Given the description of an element on the screen output the (x, y) to click on. 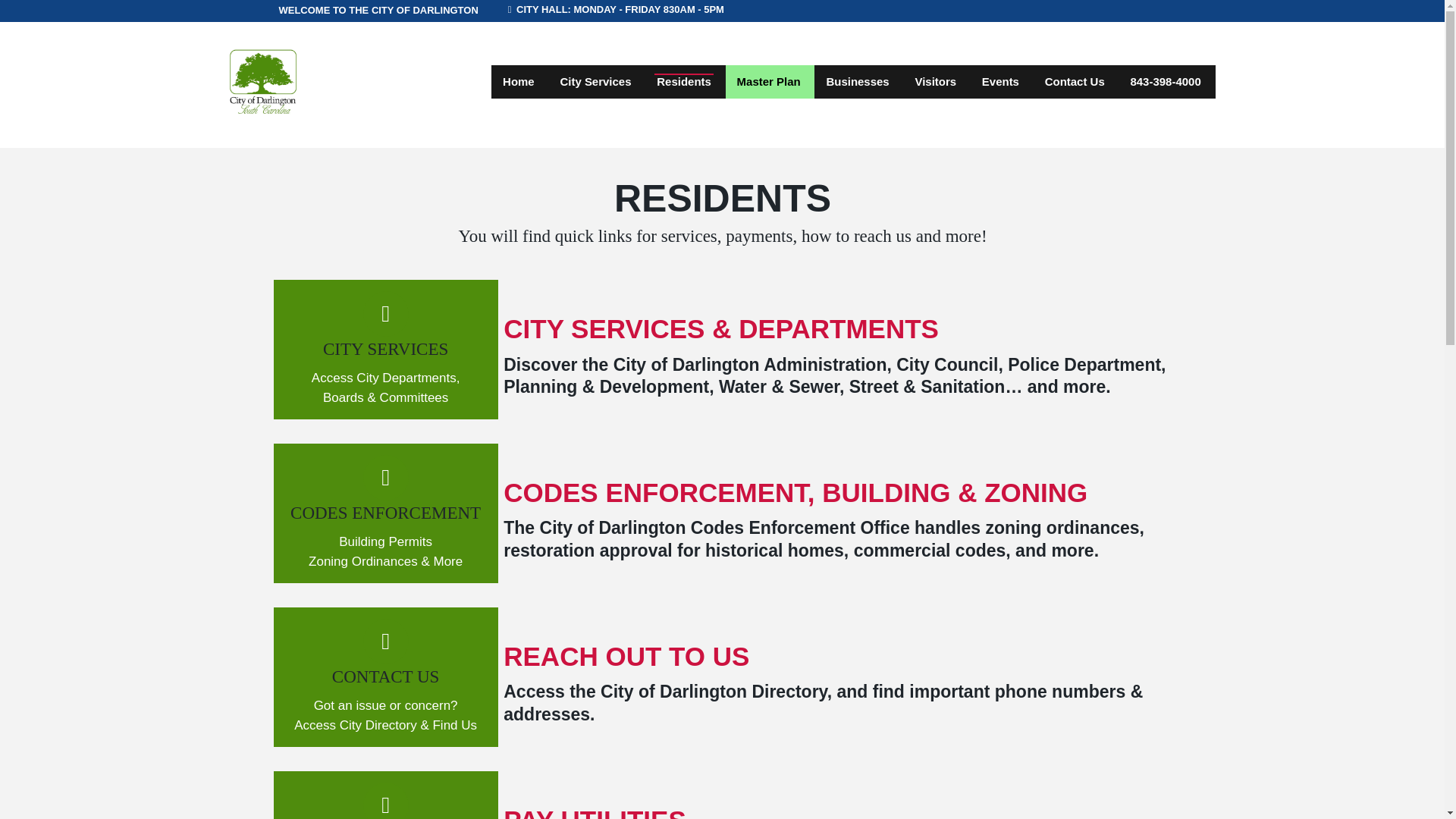
CONTACT US (385, 676)
Home (519, 82)
Businesses (856, 82)
CITY SERVICES (385, 348)
City Services (595, 82)
Contact Us (1074, 82)
CODES ENFORCEMENT (384, 512)
843-398-4000 (1164, 82)
Events (1000, 82)
Visitors (935, 82)
Master Plan (768, 82)
Residents (683, 82)
